Given the description of an element on the screen output the (x, y) to click on. 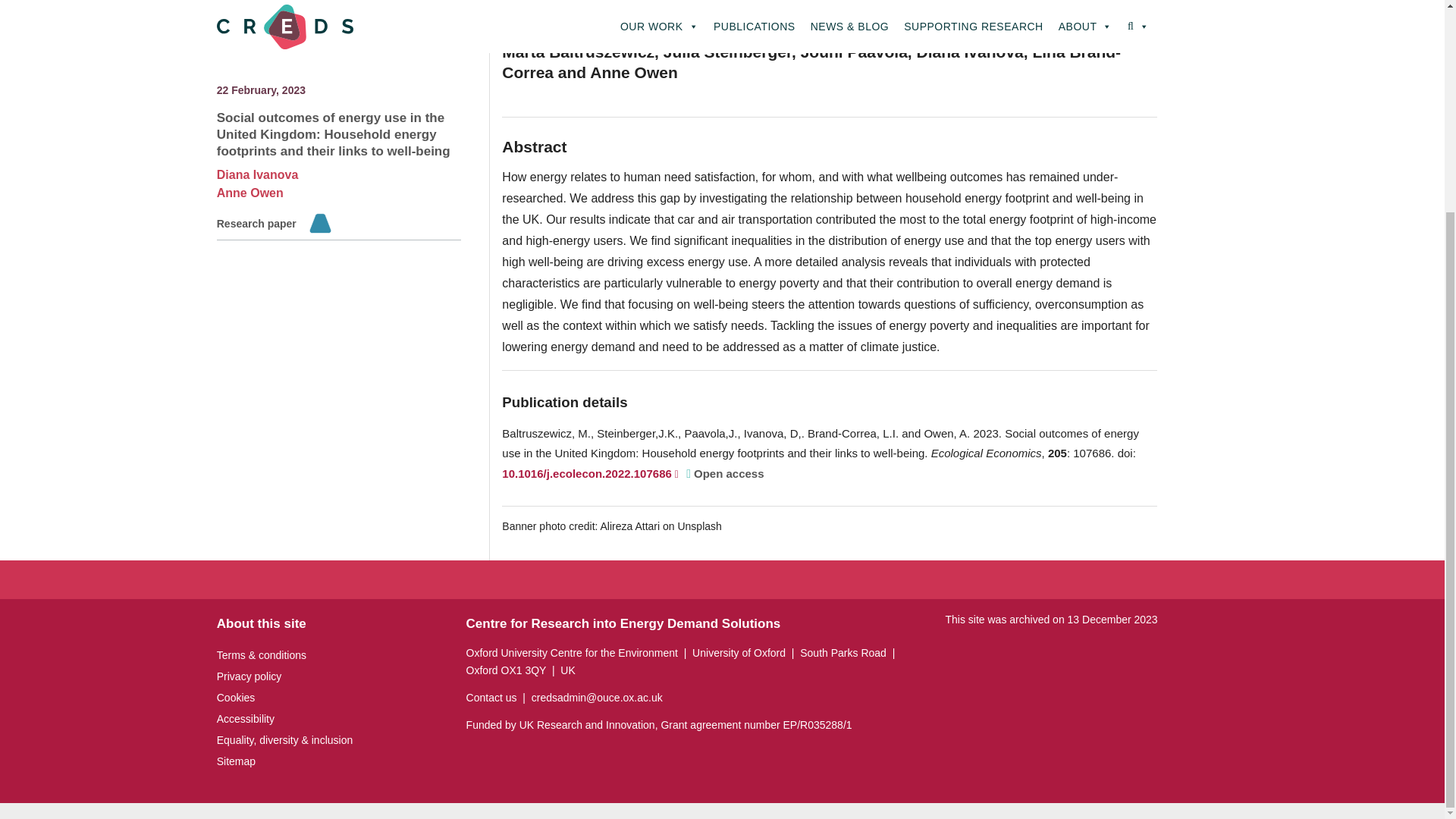
Anne Owen (249, 153)
UK Research and Innovation (587, 725)
Home (229, 7)
Diana Ivanova (257, 134)
Accessibility (245, 718)
Sitemap (236, 761)
Publications (280, 7)
Privacy policy (249, 676)
Cookies (236, 697)
